Given the description of an element on the screen output the (x, y) to click on. 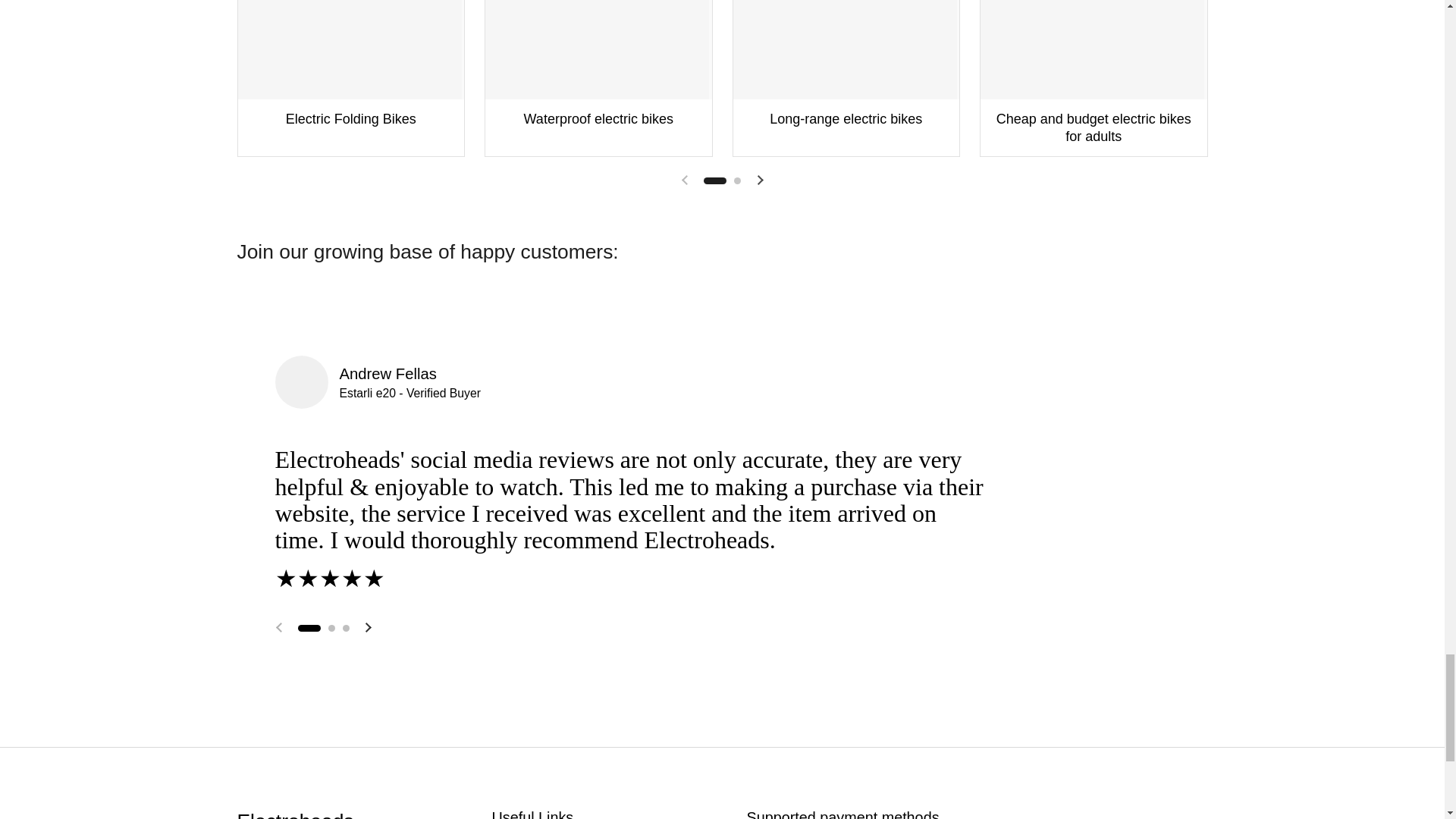
Waterproof electric bikes (597, 78)
Cheap and budget electric bikes for adults (1093, 78)
Long-range electric bikes (845, 78)
Electric Folding Bikes (351, 78)
